Given the description of an element on the screen output the (x, y) to click on. 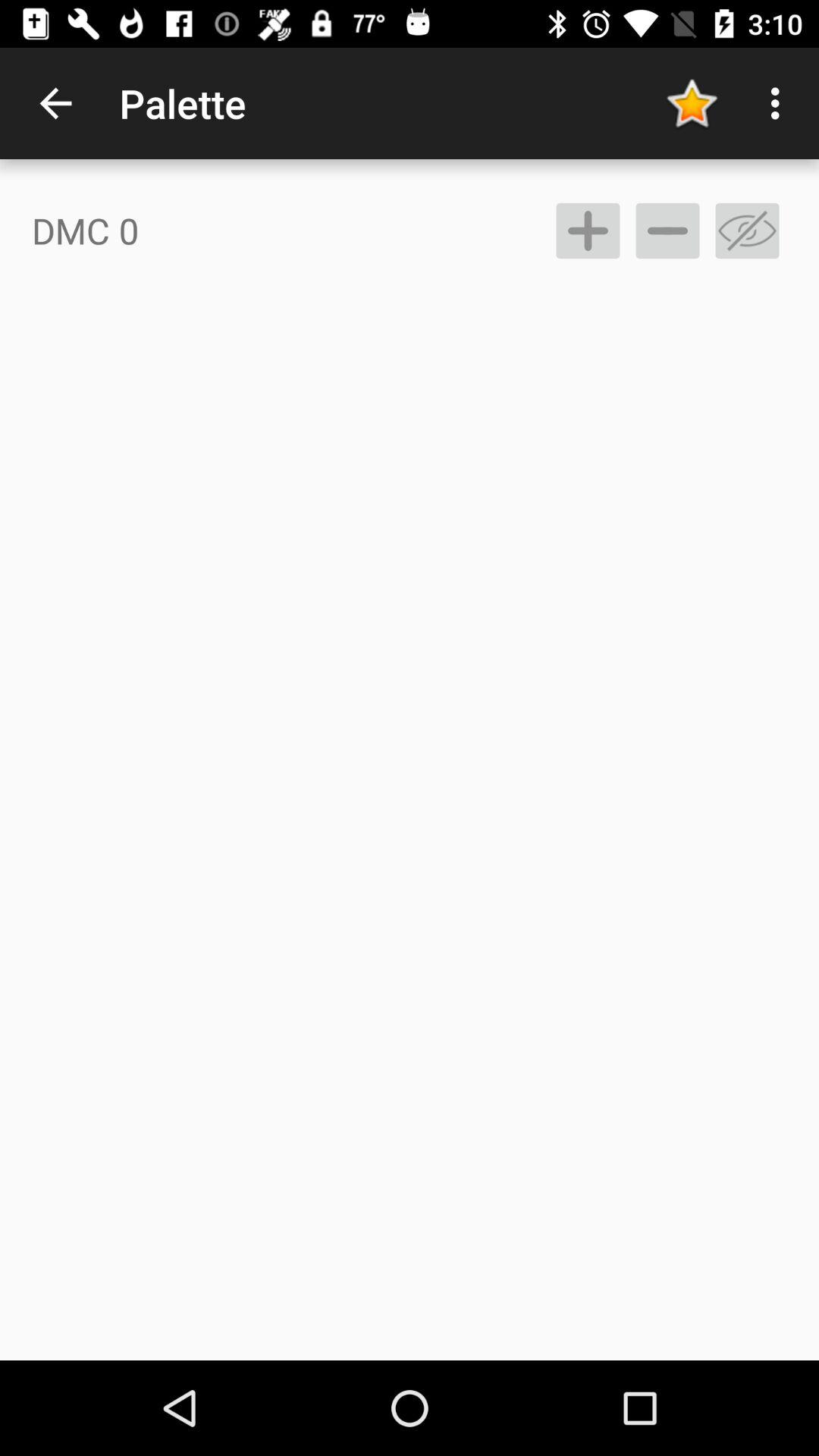
add more (587, 230)
